Given the description of an element on the screen output the (x, y) to click on. 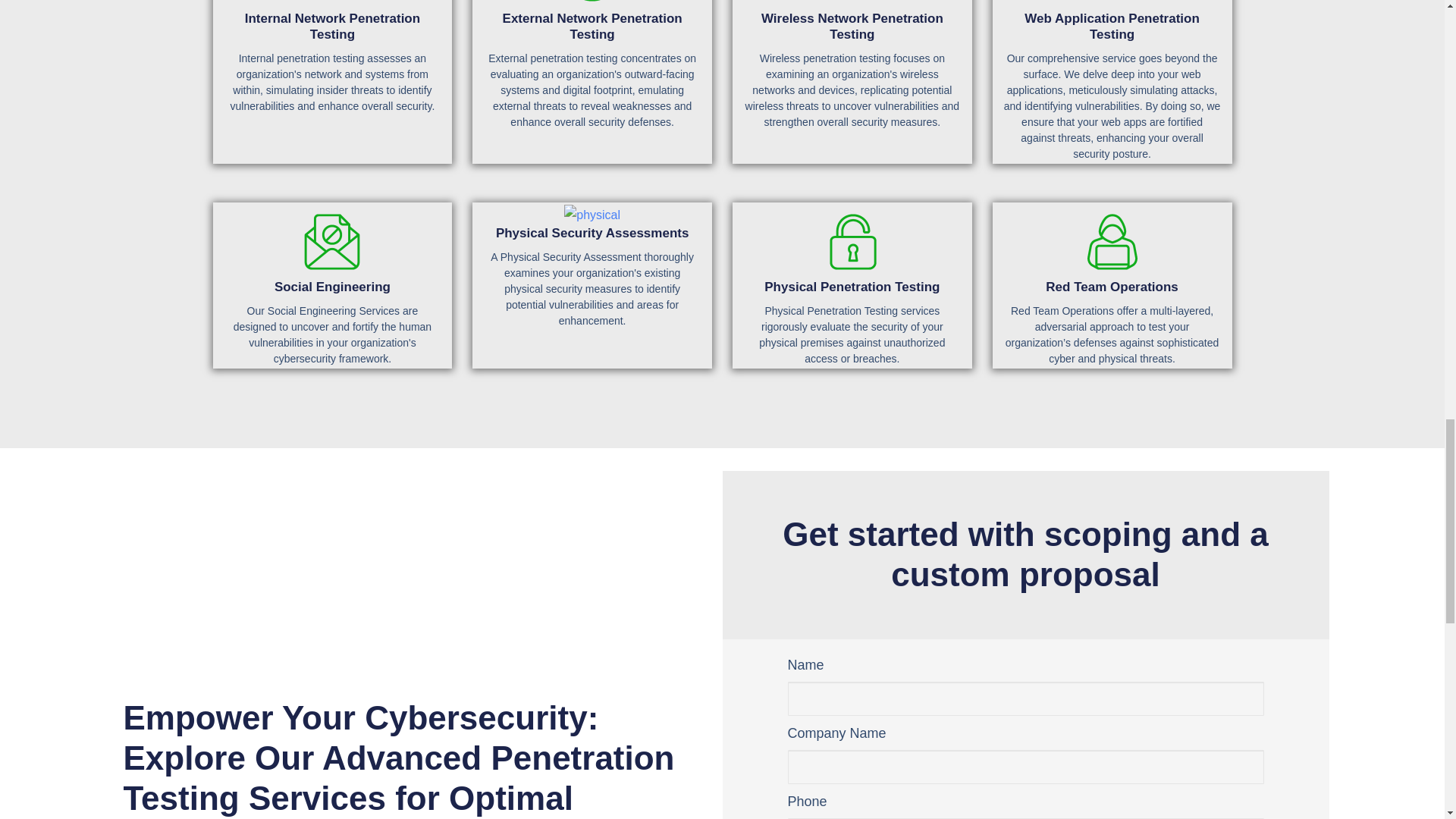
UNLOCKED (851, 241)
network (331, 5)
SE (331, 241)
WIFI ROUTER (851, 5)
physical (592, 215)
HACKER (1112, 241)
webapp (1112, 5)
external (592, 5)
